Given the description of an element on the screen output the (x, y) to click on. 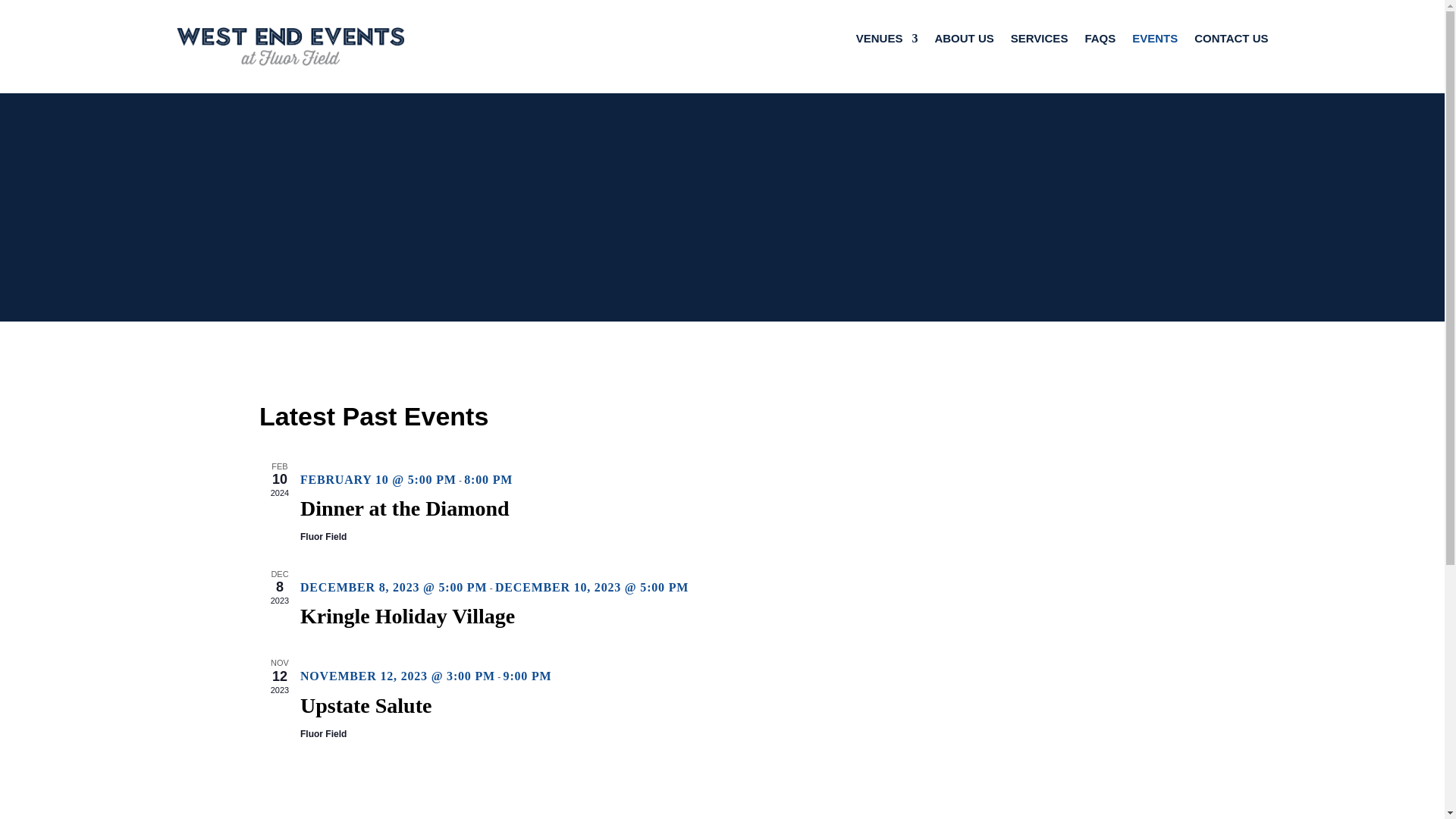
Kringle Holiday Village (407, 616)
ABOUT US (963, 41)
Kringle Holiday Village (407, 616)
Dinner at the Diamond (404, 508)
CONTACT US (1230, 41)
Upstate Salute (364, 705)
Upstate Salute (364, 705)
VENUES (887, 41)
EVENTS (1154, 41)
Dinner at the Diamond (404, 508)
